Given the description of an element on the screen output the (x, y) to click on. 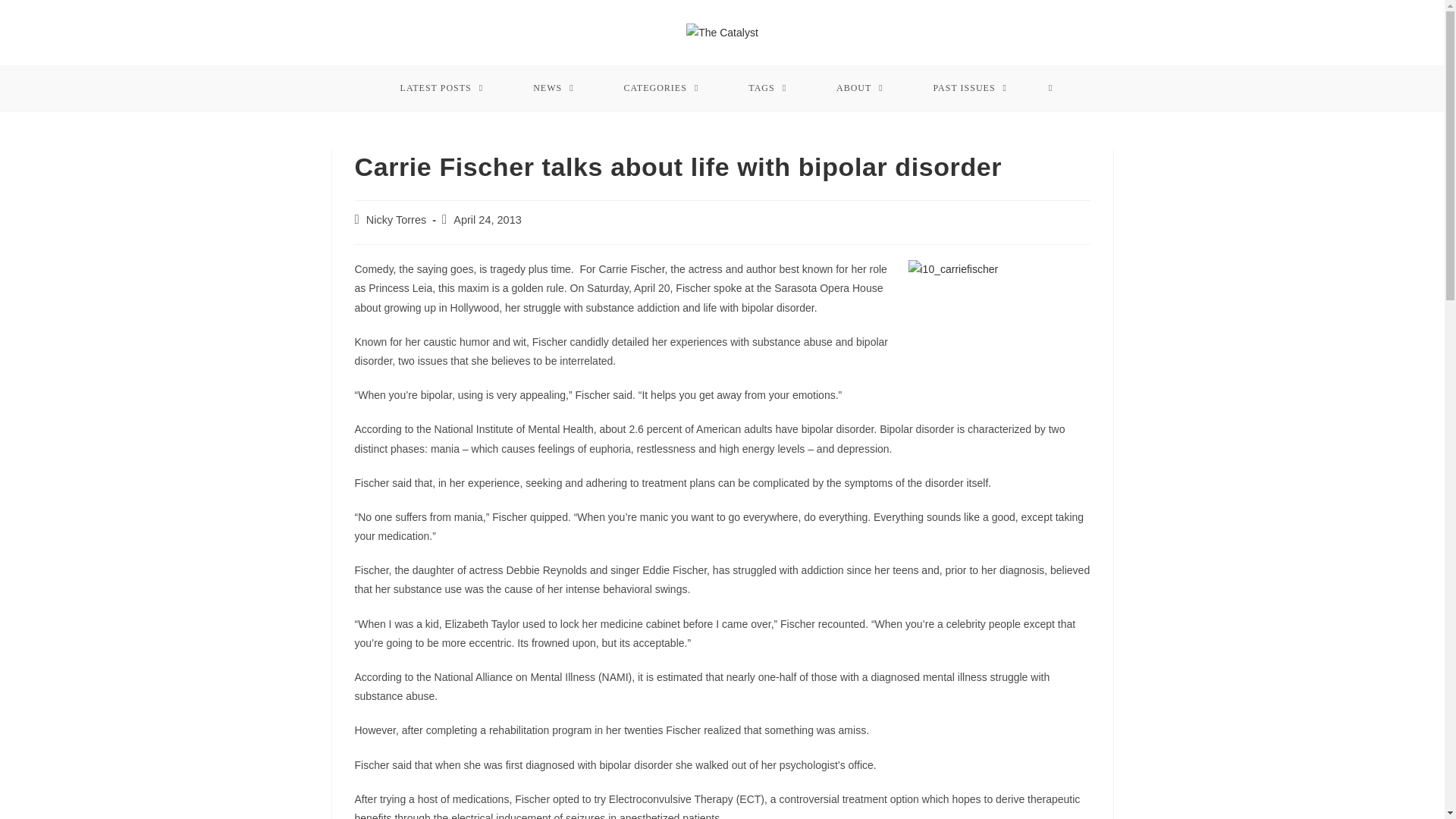
Posts by Nicky Torres (396, 219)
ABOUT (859, 87)
NEWS (553, 87)
Nicky Torres (396, 219)
CATEGORIES (660, 87)
PAST ISSUES (970, 87)
TAGS (766, 87)
LATEST POSTS (441, 87)
